Given the description of an element on the screen output the (x, y) to click on. 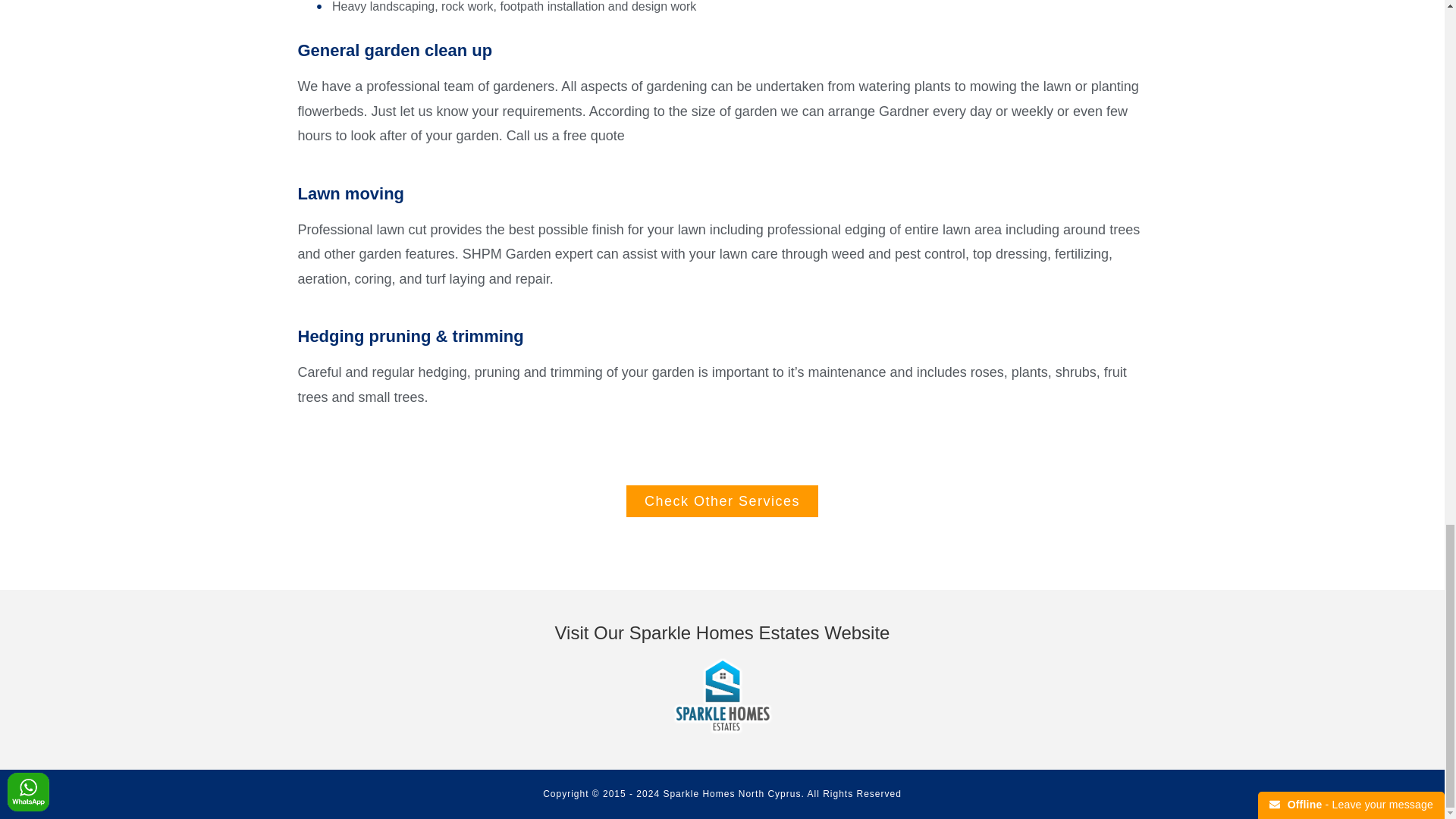
Check Other Services (722, 500)
